Given the description of an element on the screen output the (x, y) to click on. 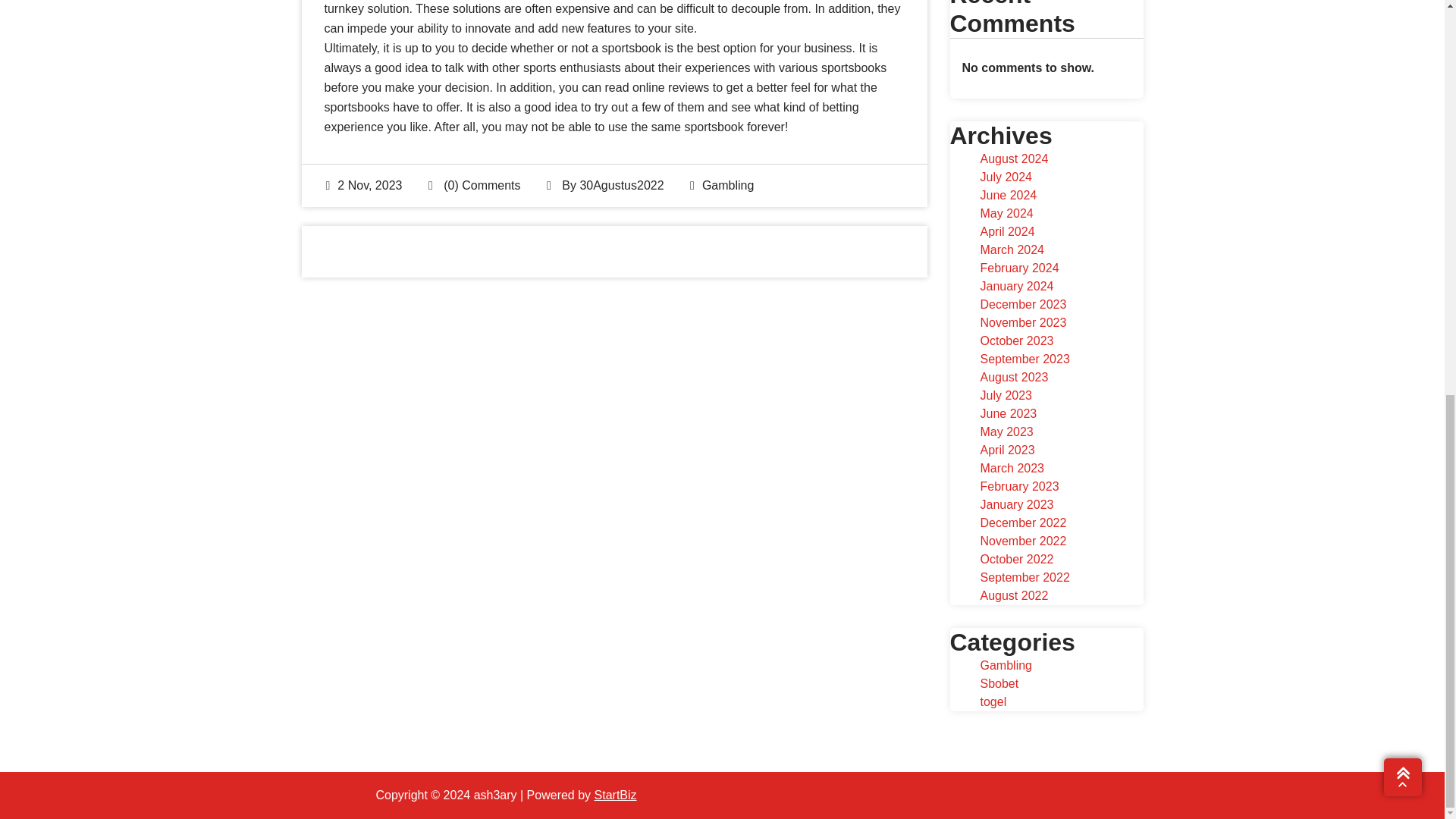
January 2023 (1015, 504)
February 2023 (1018, 486)
June 2023 (1007, 413)
May 2024 (1005, 213)
November 2022 (1022, 540)
August 2023 (1013, 377)
November 2023 (1022, 322)
January 2024 (1015, 286)
March 2023 (1011, 468)
August 2024 (1013, 158)
